Given the description of an element on the screen output the (x, y) to click on. 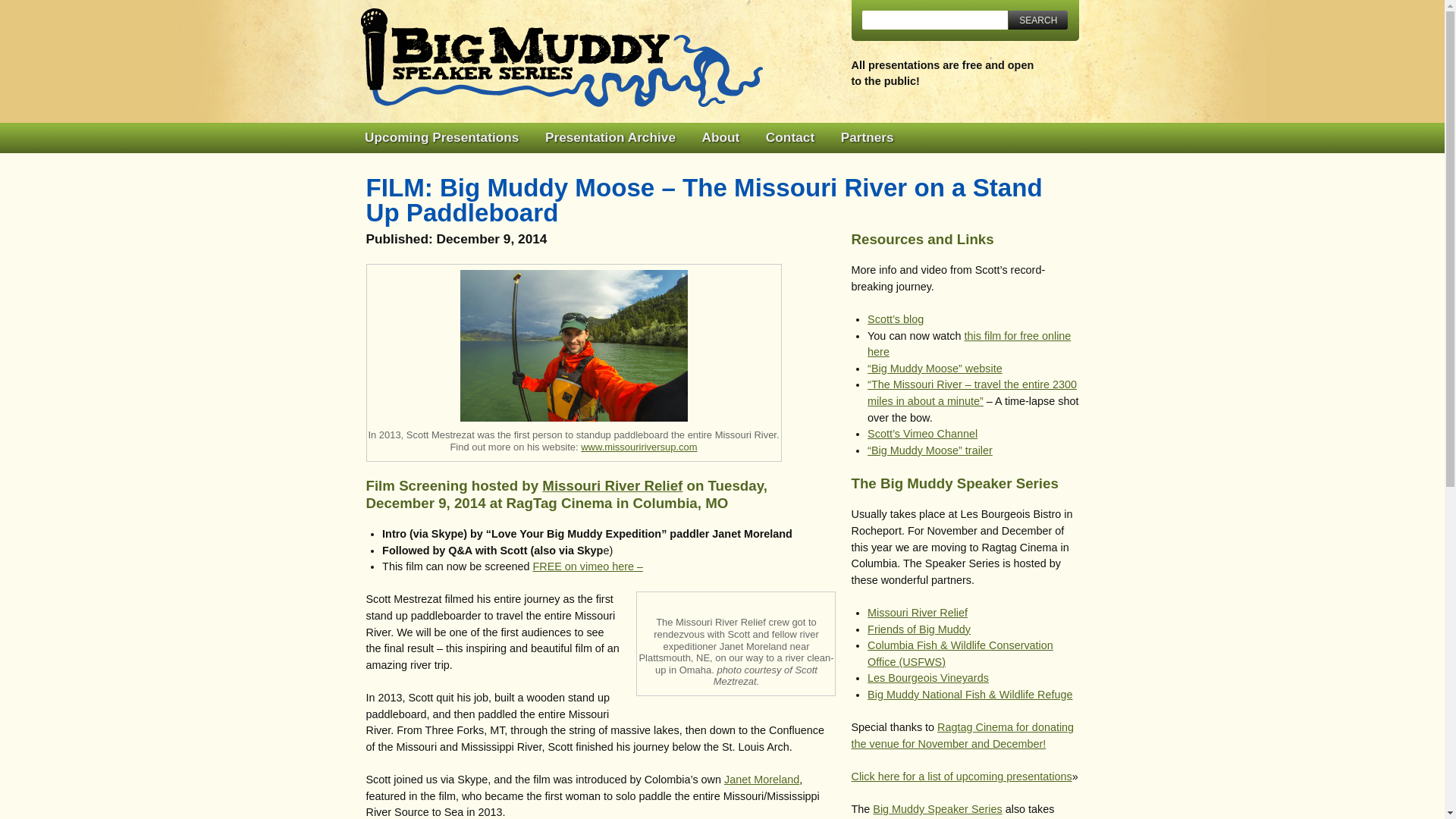
Big Muddy Speaker Series (560, 57)
Partners (866, 138)
Search (1037, 19)
Les Bourgeois Vineyards (927, 677)
Search (1037, 19)
Contact (789, 138)
this film for free online here (968, 344)
Missouri River Relief (917, 612)
Presentation Archive (609, 138)
About (720, 138)
Janet Moreland (761, 779)
www.missouririversup.com (638, 446)
Big Muddy Speaker Series (560, 57)
Missouri River Relief (611, 485)
Upcoming Presentations (441, 138)
